Given the description of an element on the screen output the (x, y) to click on. 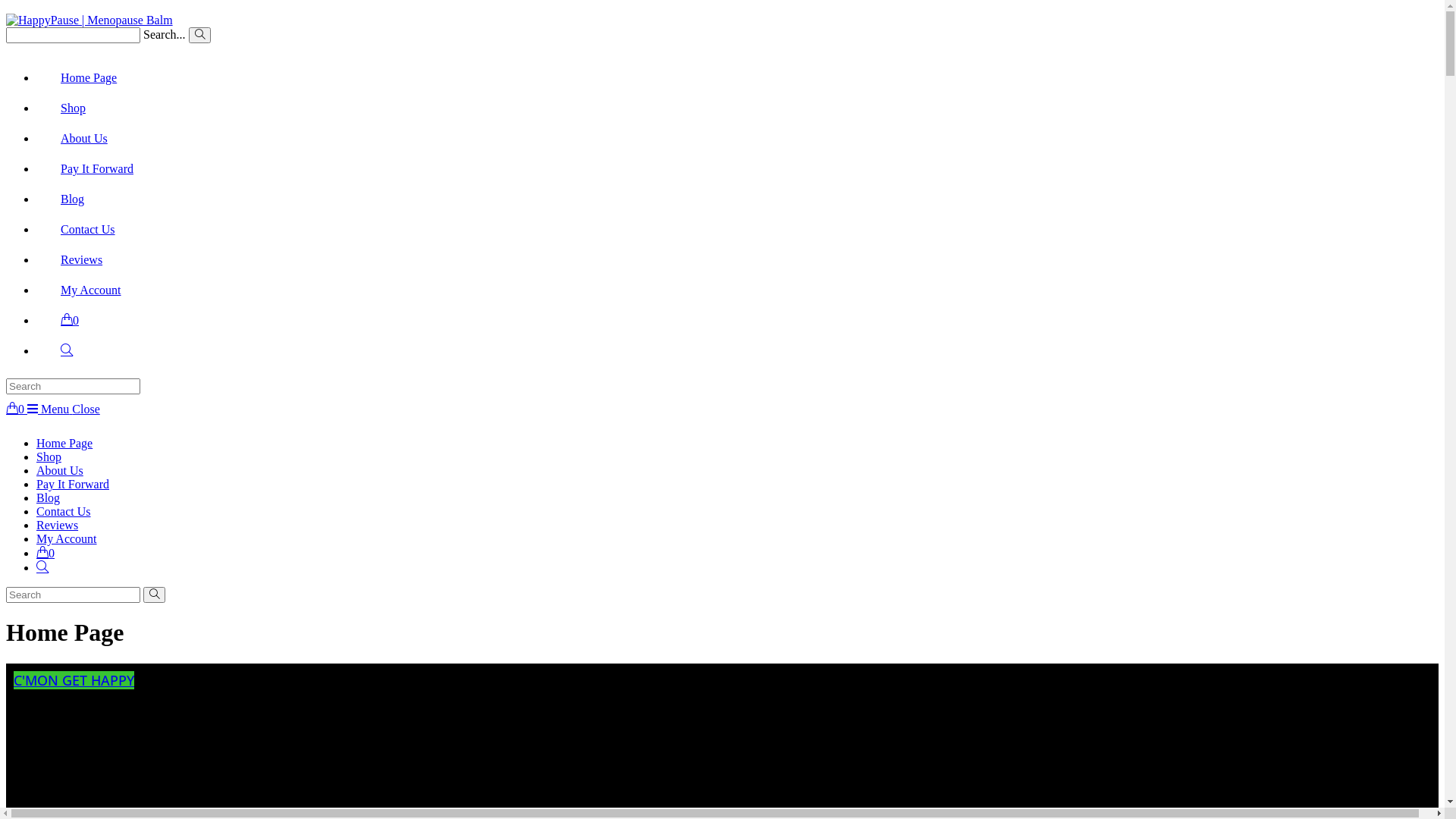
Home Page Element type: text (88, 77)
Menu Close Element type: text (63, 408)
Blog Element type: text (72, 198)
About Us Element type: text (59, 470)
Home Page Element type: text (64, 442)
0 Element type: text (16, 408)
Pay It Forward Element type: text (96, 168)
Contact Us Element type: text (63, 511)
Pay It Forward Element type: text (72, 483)
My Account Element type: text (90, 289)
Blog Element type: text (47, 497)
Shop Element type: text (72, 107)
Shop Element type: text (48, 456)
0 Element type: text (45, 552)
My Account Element type: text (66, 538)
About Us Element type: text (83, 137)
C'MON GET HAPPY Element type: text (73, 680)
Skip to content Element type: text (5, 5)
Reviews Element type: text (81, 259)
Reviews Element type: text (57, 524)
0 Element type: text (69, 319)
Contact Us Element type: text (87, 228)
